Given the description of an element on the screen output the (x, y) to click on. 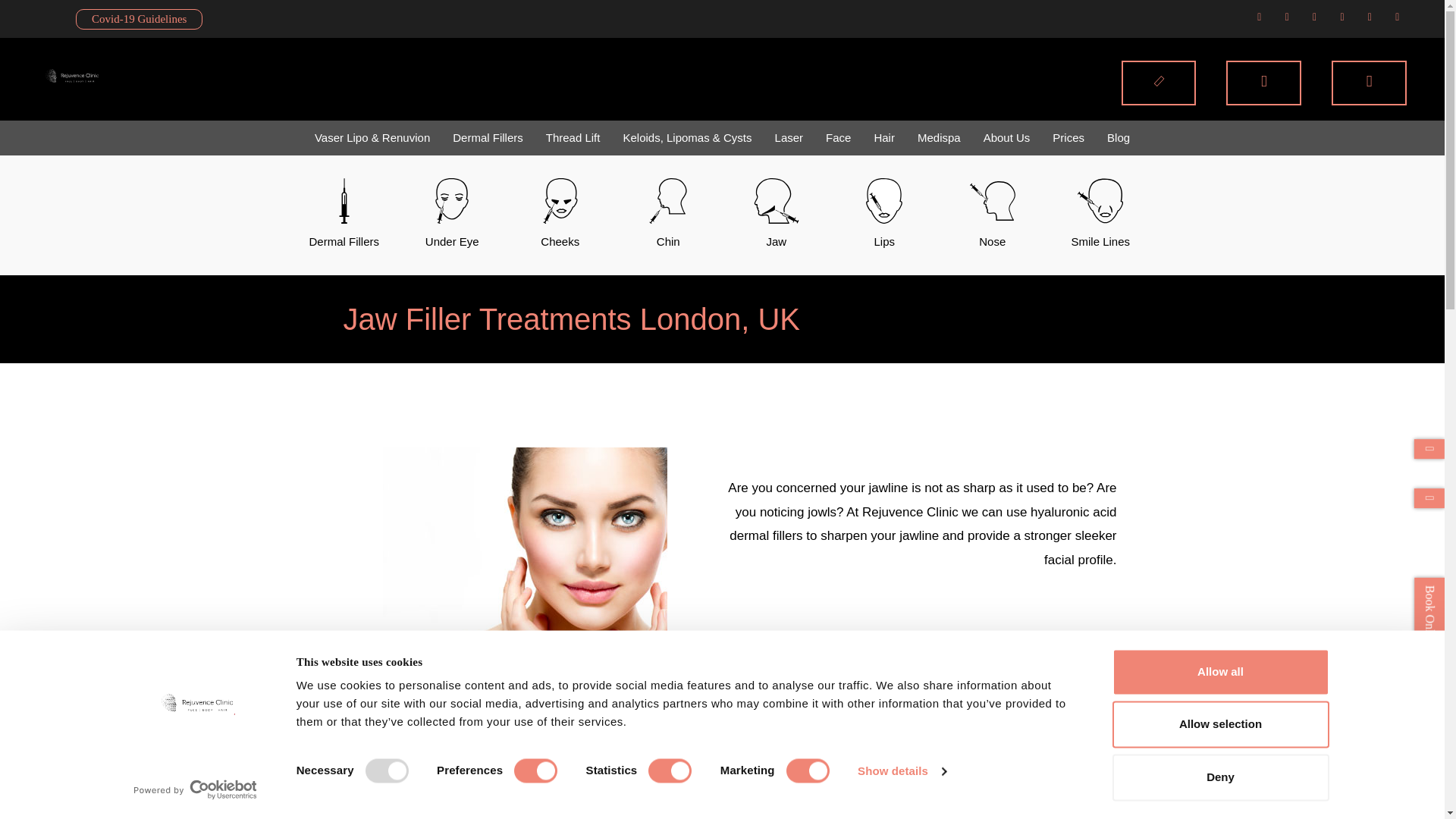
Deny (1219, 776)
Allow selection (1219, 724)
Show details (900, 771)
